Given the description of an element on the screen output the (x, y) to click on. 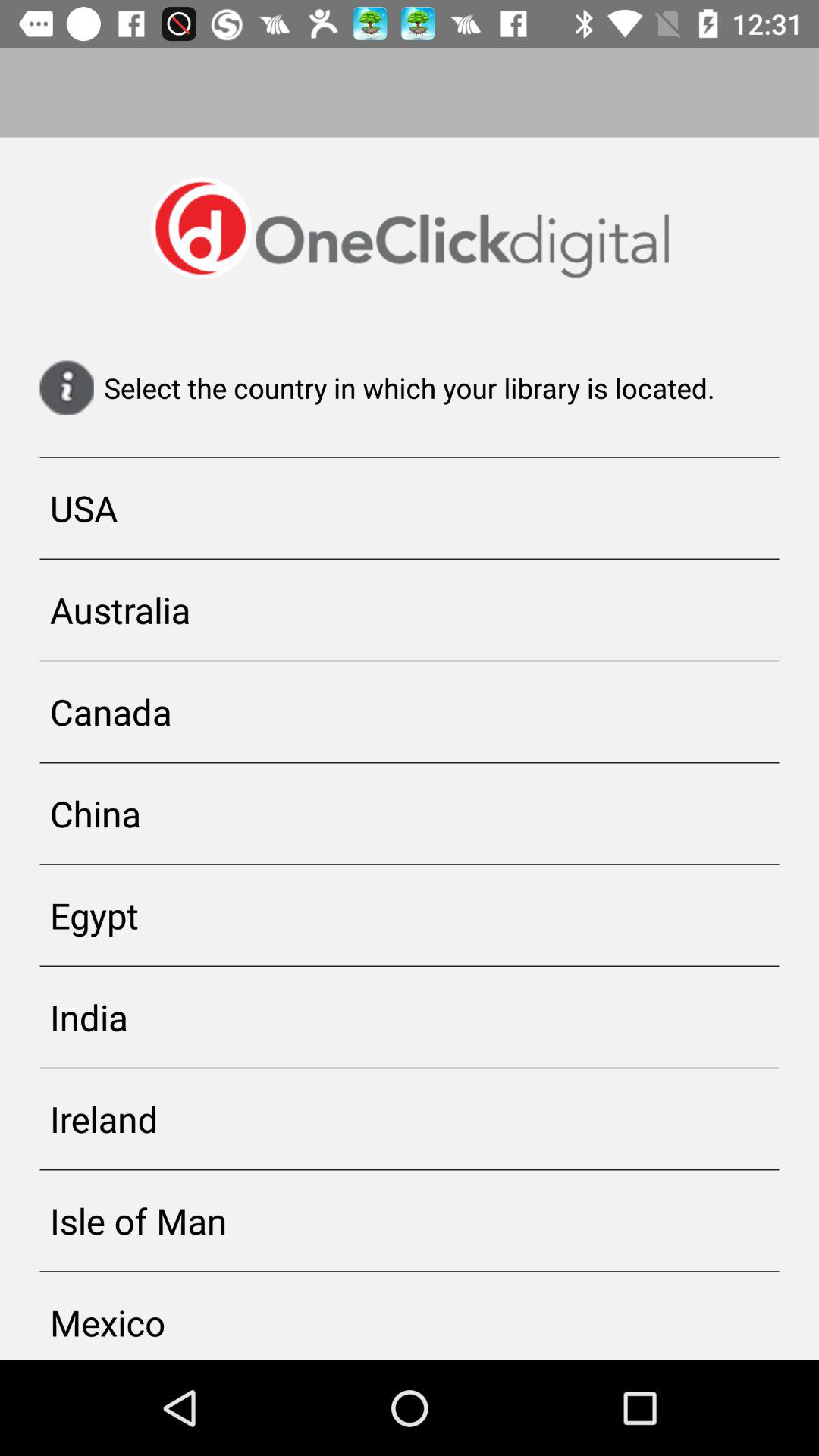
select app above isle of man item (409, 1118)
